Given the description of an element on the screen output the (x, y) to click on. 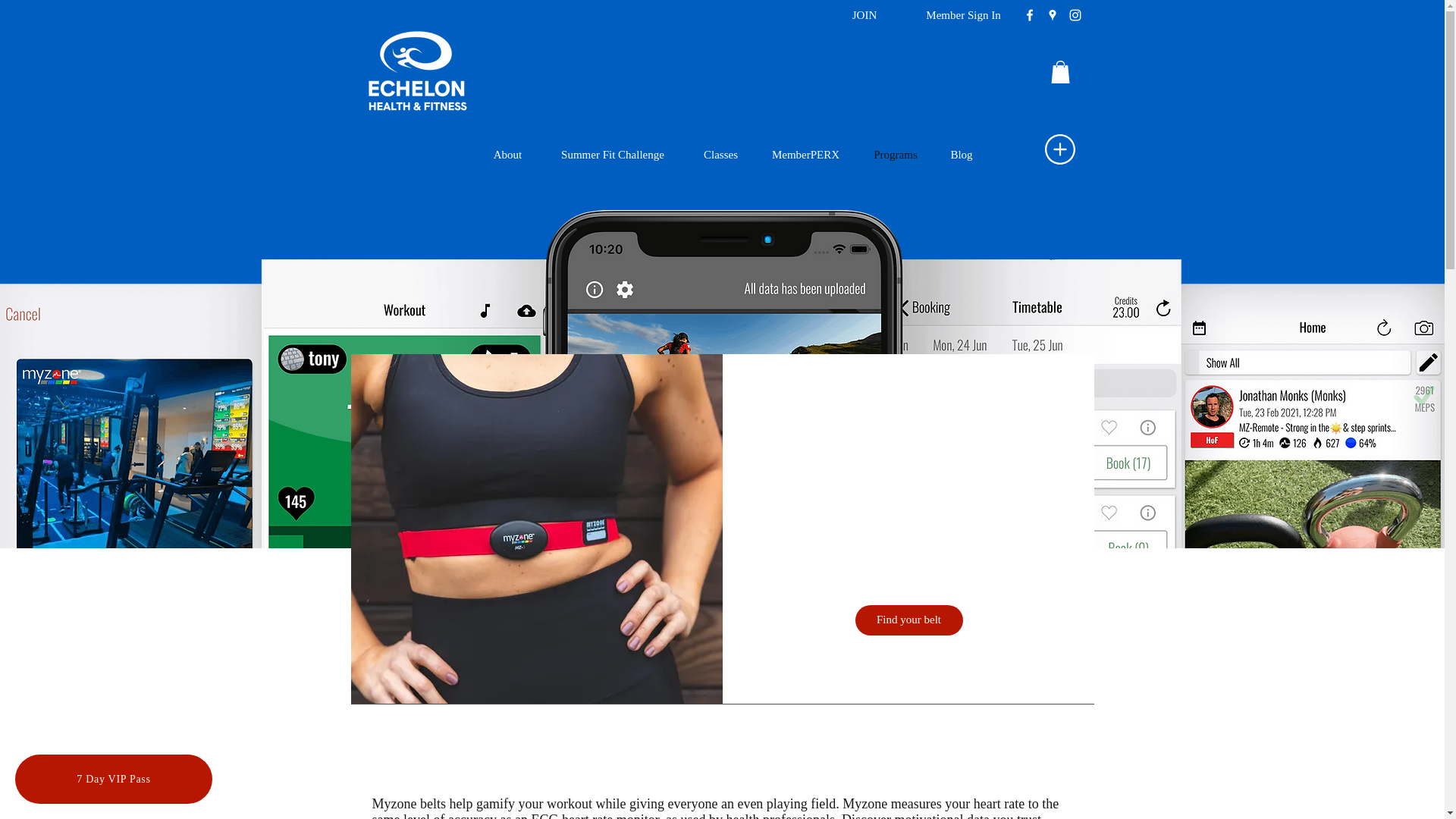
Summer Fit Challenge (612, 154)
Programs (895, 154)
Find your belt (909, 620)
About (508, 154)
JOIN (864, 15)
Blog (962, 154)
Classes (720, 154)
MemberPERX (805, 154)
Member Sign In (963, 15)
